Given the description of an element on the screen output the (x, y) to click on. 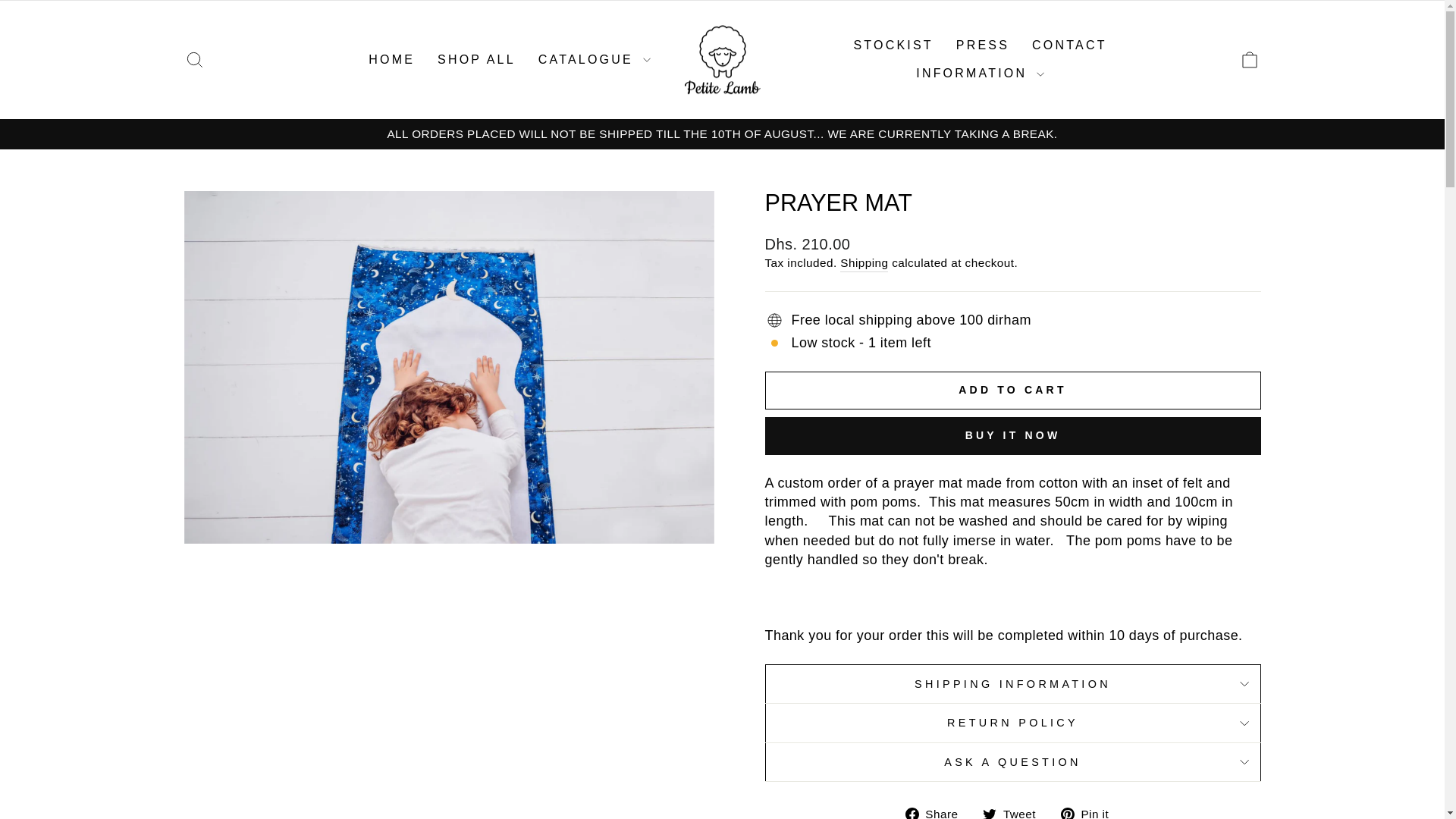
Share on Facebook (937, 811)
STOCKIST (892, 44)
twitter (988, 813)
ICON-SEARCH (194, 59)
SHOP ALL (476, 59)
HOME (391, 59)
Tweet on Twitter (194, 59)
Pin on Pinterest (1014, 811)
ICON-BAG-MINIMAL (1090, 811)
